Given the description of an element on the screen output the (x, y) to click on. 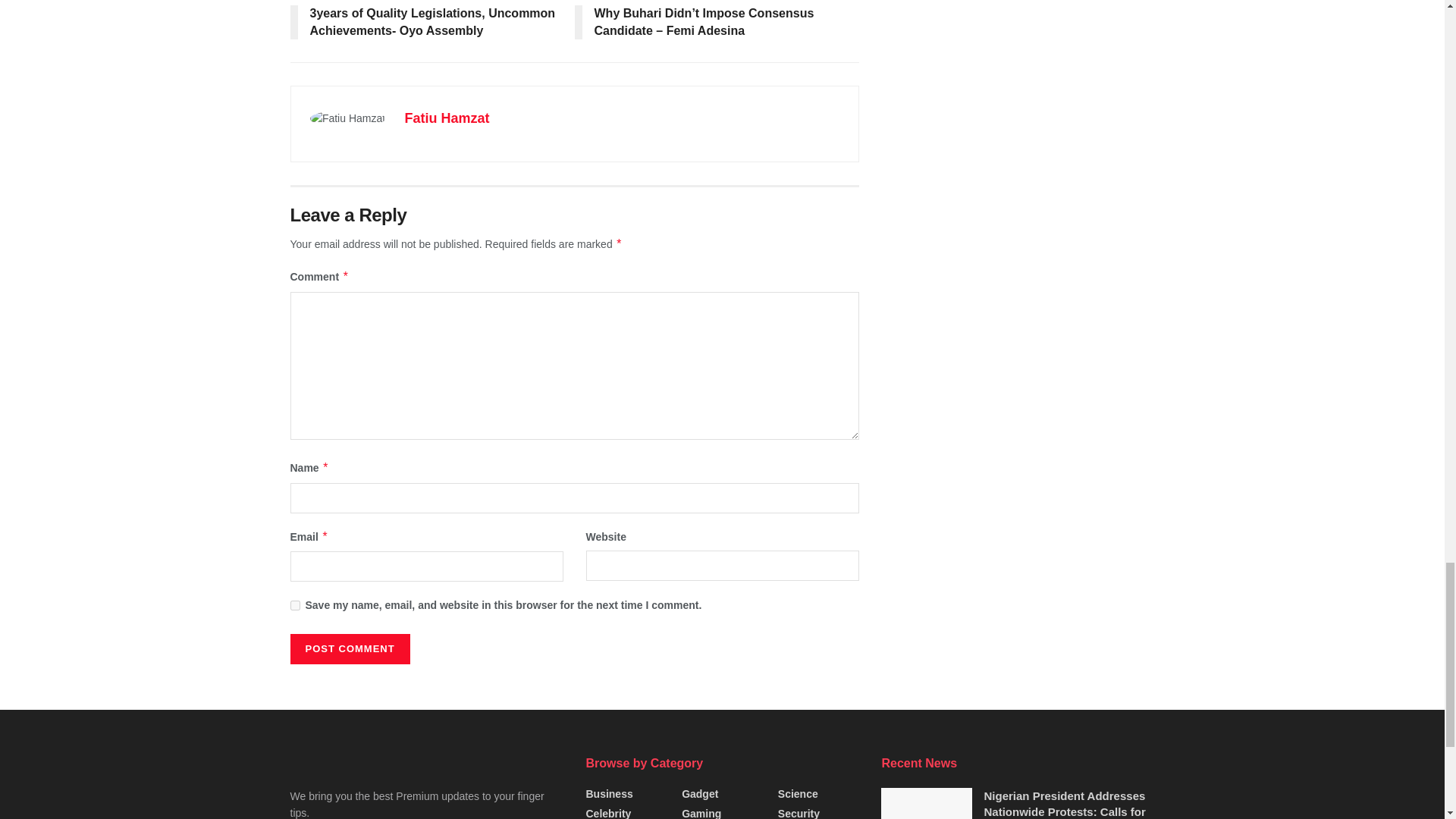
yes (294, 605)
Post Comment (349, 648)
